Given the description of an element on the screen output the (x, y) to click on. 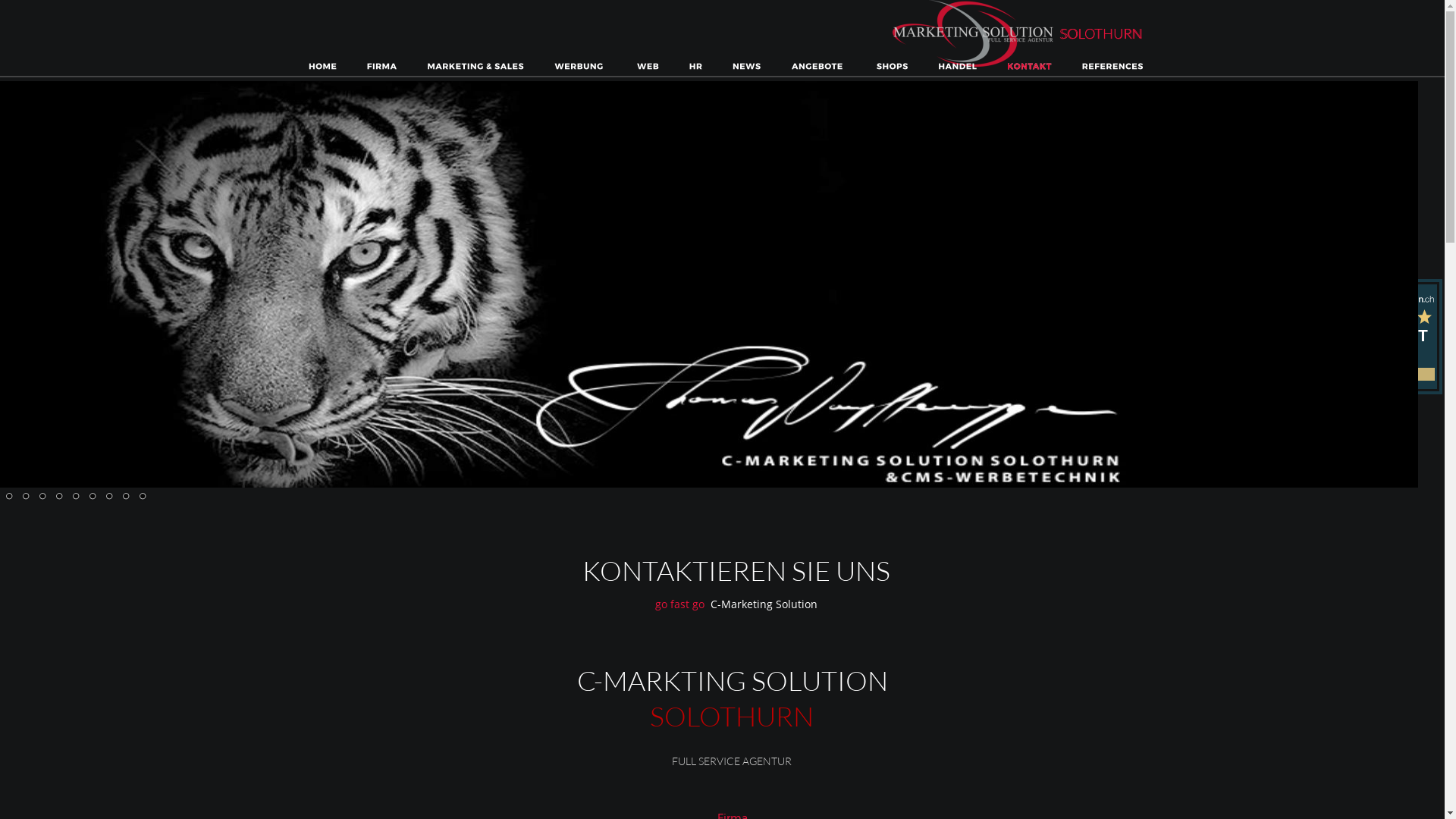
9 Element type: text (108, 495)
11 Element type: text (141, 495)
6 Element type: text (58, 495)
8 Element type: text (91, 495)
KONTAKTIEREN SIE UNS Element type: text (736, 569)
7 Element type: text (74, 495)
3 Element type: text (8, 495)
4 Element type: text (24, 495)
10 Element type: text (124, 495)
5 Element type: text (41, 495)
